Given the description of an element on the screen output the (x, y) to click on. 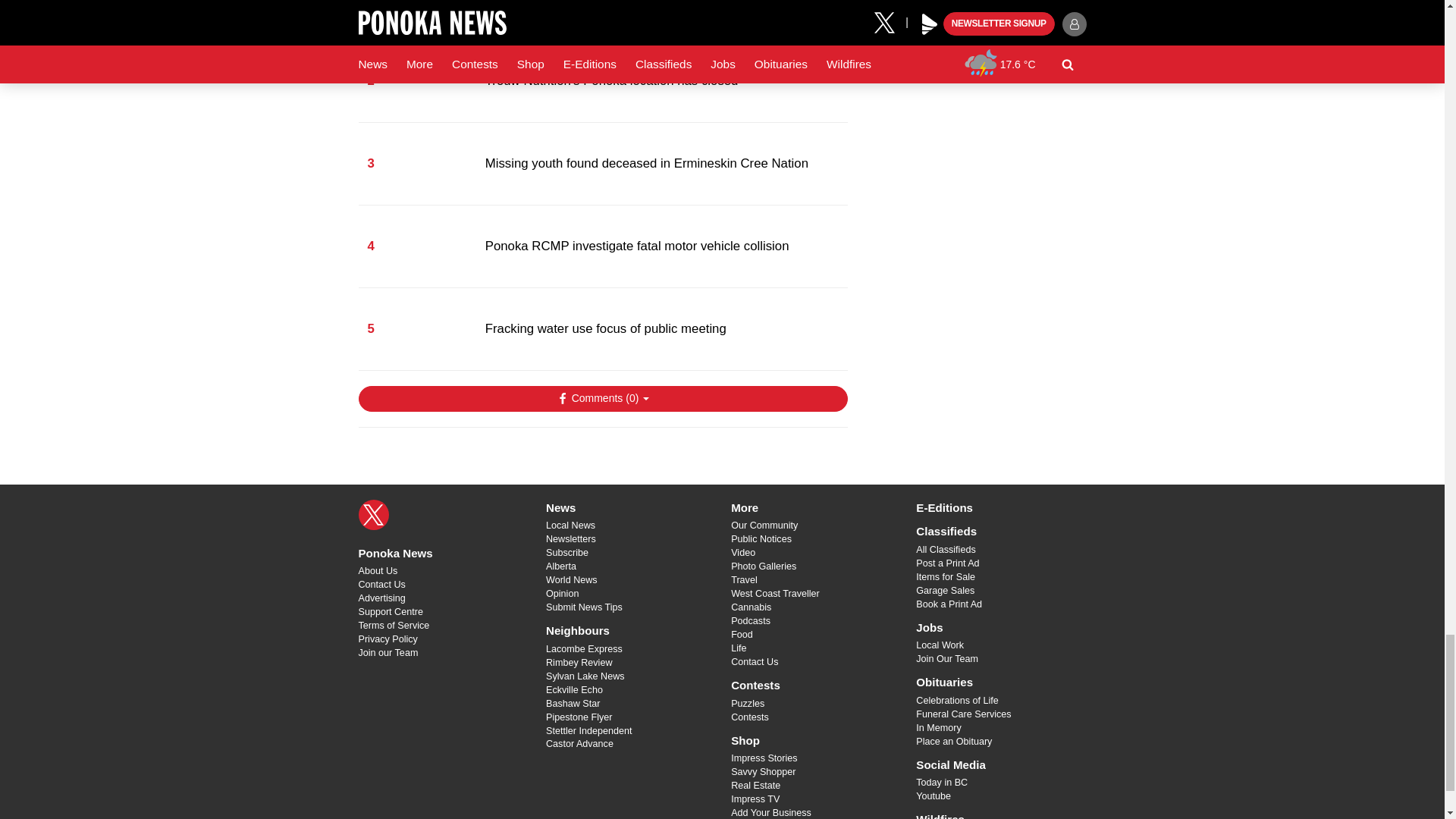
Show Comments (602, 398)
X (373, 514)
